Given the description of an element on the screen output the (x, y) to click on. 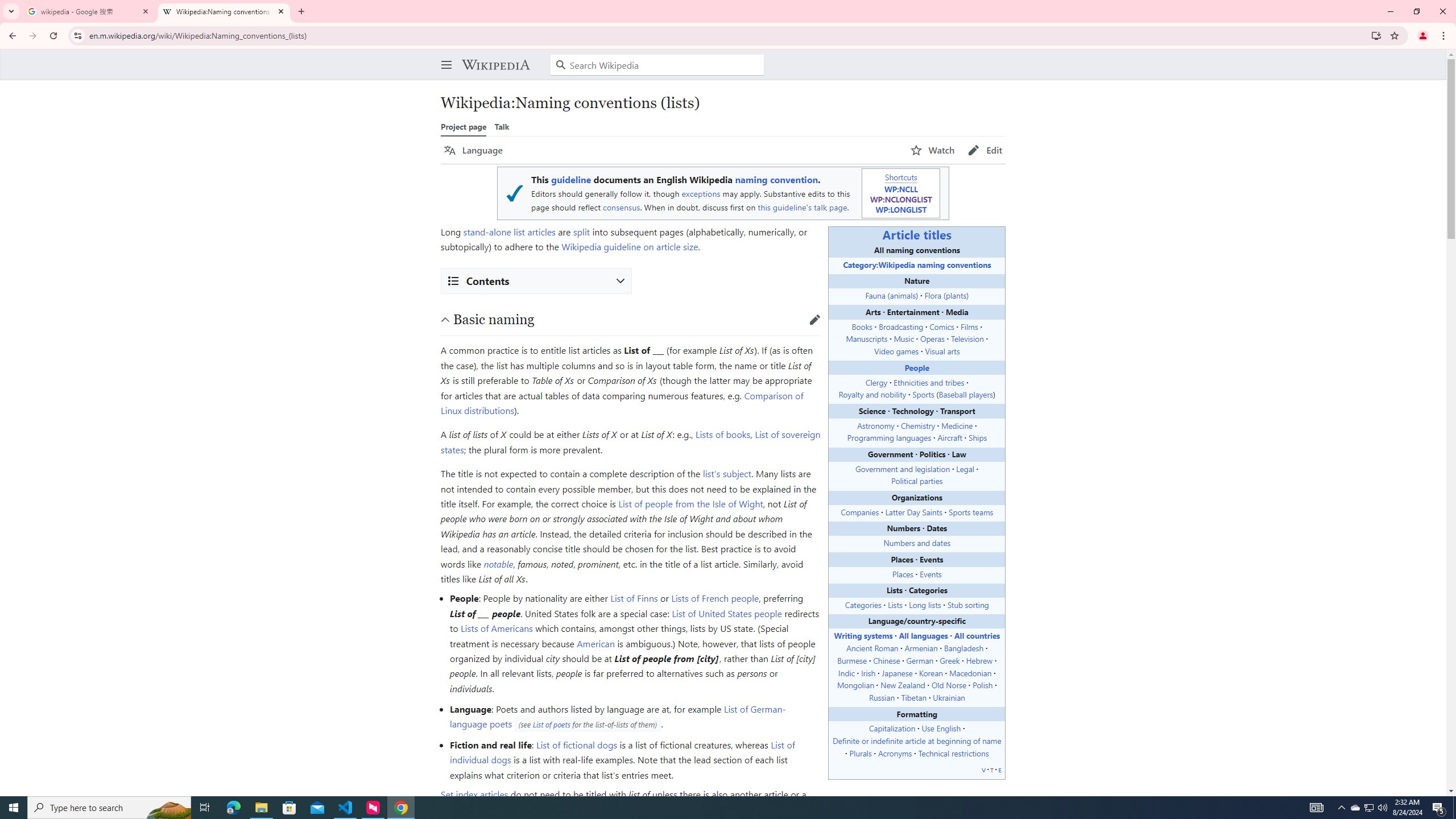
Shortcuts (900, 176)
WP:LONGLIST (901, 208)
Blue tick (513, 193)
All languages (922, 635)
Bangladesh (962, 647)
Fauna (animals) (891, 294)
guideline (570, 179)
List of sovereign states (630, 441)
Talk (501, 126)
Tibetan (913, 697)
